Given the description of an element on the screen output the (x, y) to click on. 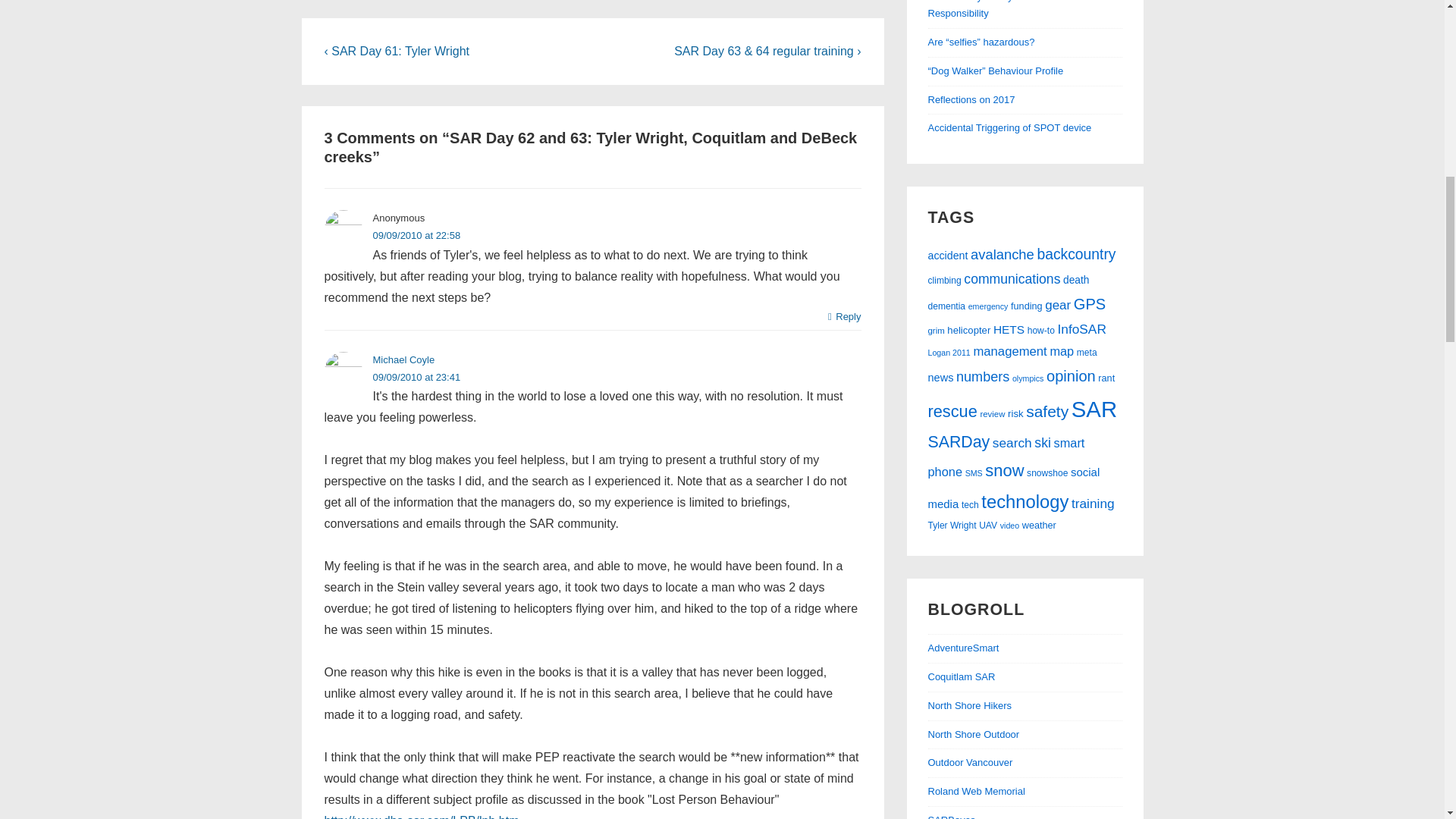
Dedicated to the memory of Roland Webb (976, 790)
